Given the description of an element on the screen output the (x, y) to click on. 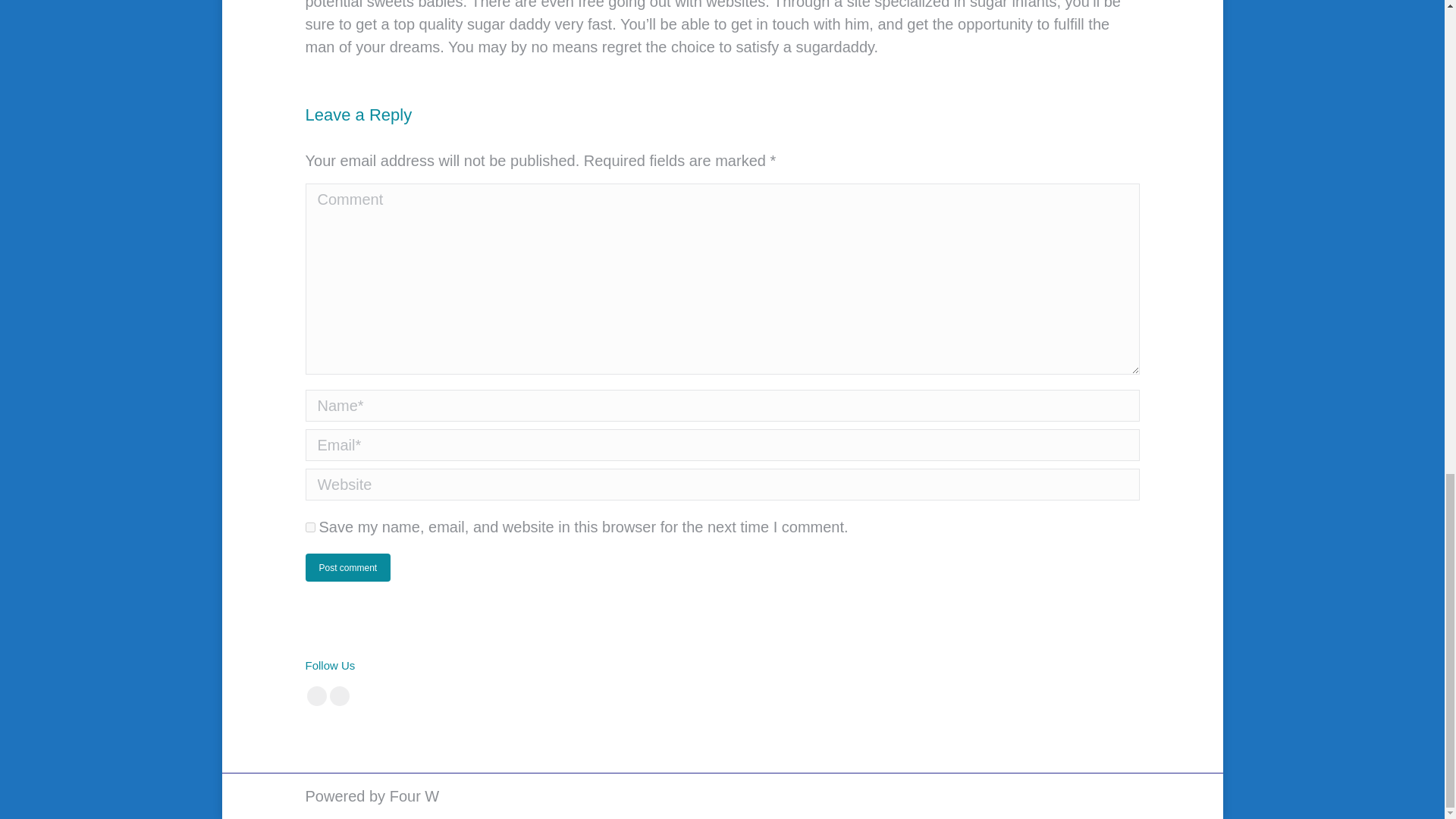
Facebook (315, 695)
Instagram (339, 695)
yes (309, 527)
